Given the description of an element on the screen output the (x, y) to click on. 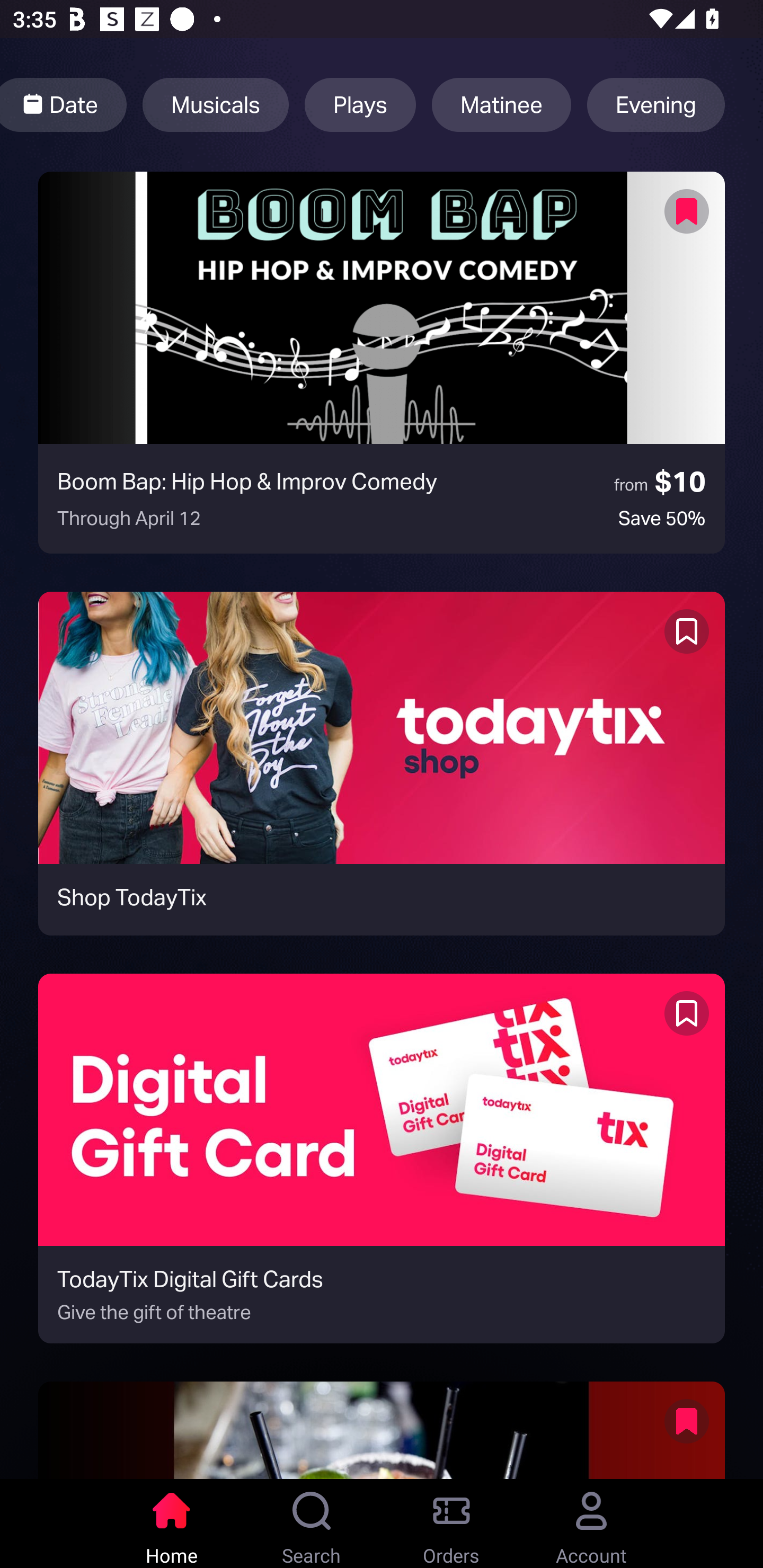
Date (63, 104)
Musicals (215, 104)
Plays (359, 104)
Matinee (501, 104)
Evening (655, 104)
Shop TodayTix (381, 763)
Search (311, 1523)
Orders (451, 1523)
Account (591, 1523)
